Given the description of an element on the screen output the (x, y) to click on. 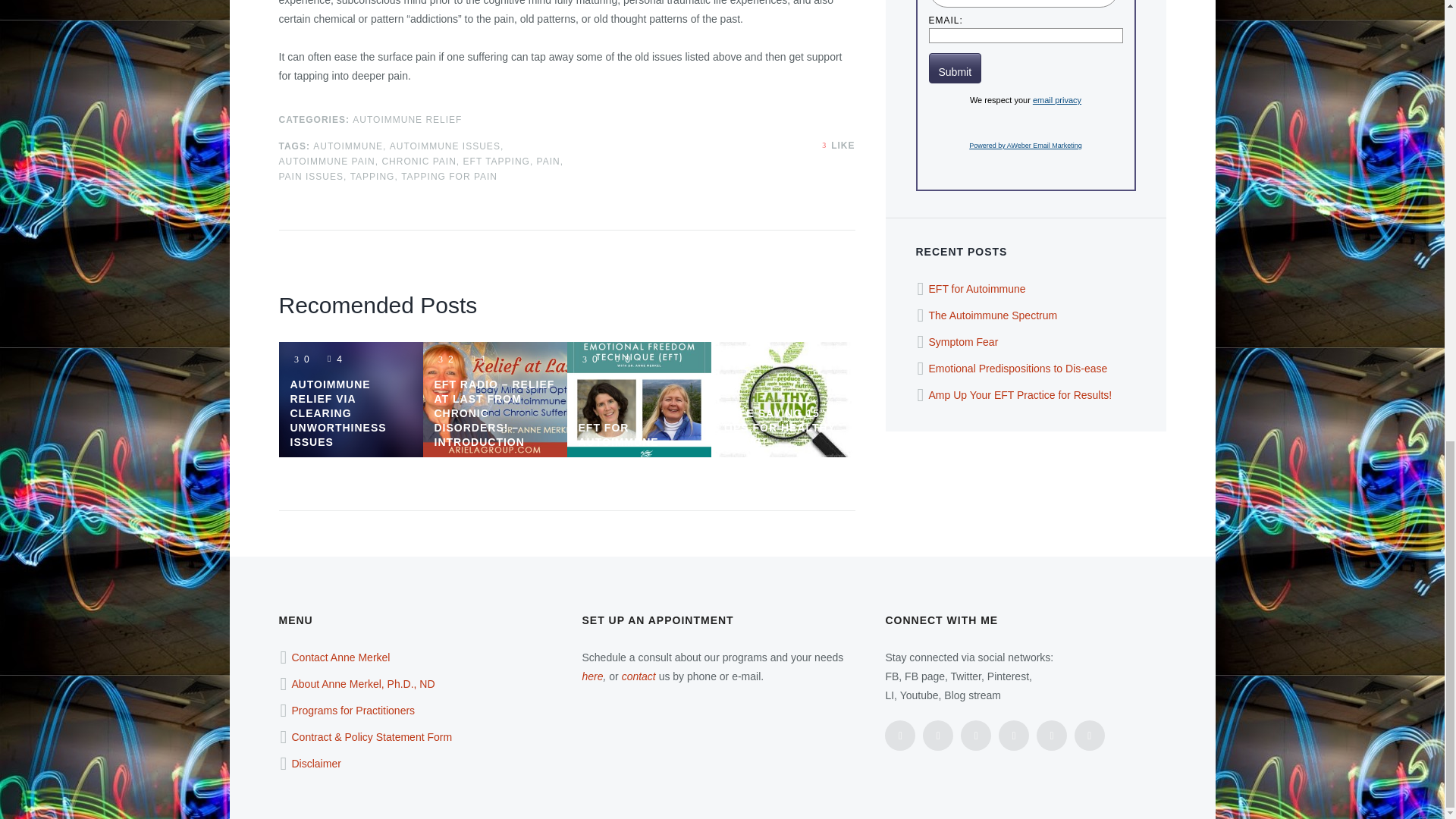
Comments - 1 (476, 358)
Like - 0 (824, 145)
Likes - 0 (731, 358)
Submit (954, 68)
Likes - 0 (587, 358)
Likes - 2 (442, 358)
Likes - 0 (298, 358)
Comments - 0 (620, 358)
Comments - 0 (764, 358)
Comments - 4 (332, 358)
